Given the description of an element on the screen output the (x, y) to click on. 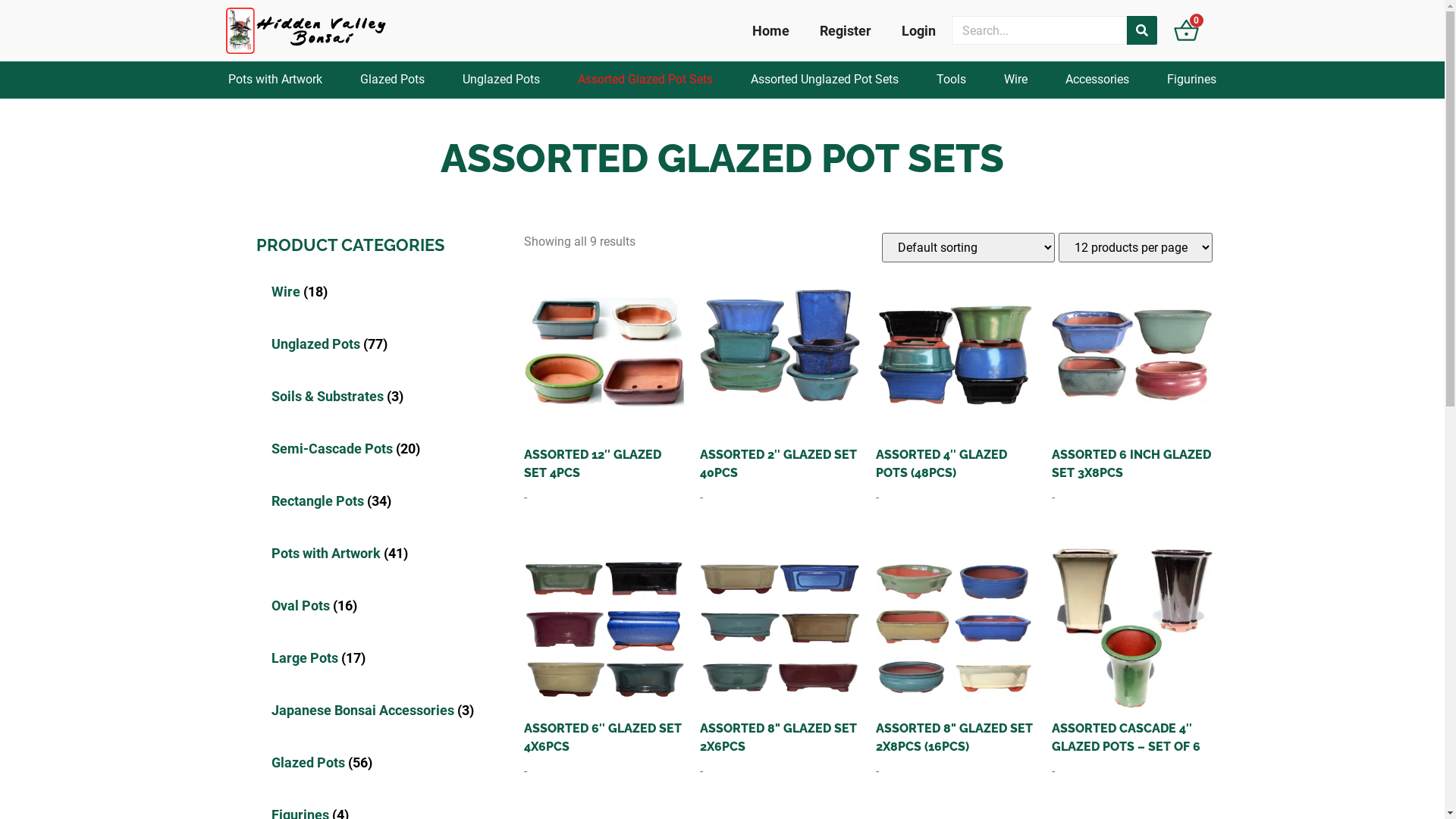
Home Element type: text (770, 29)
Search Element type: hover (1038, 29)
Figurines Element type: text (1191, 79)
Accessories Element type: text (1097, 79)
ASSORTED 8" GLAZED SET 2X8PCS (16PCS) Element type: text (955, 654)
Japanese Bonsai Accessories (3) Element type: text (364, 709)
Search Element type: hover (1141, 29)
Unglazed Pots Element type: text (500, 79)
Large Pots (17) Element type: text (310, 656)
ASSORTED 8" GLAZED SET 2X6PCS Element type: text (779, 654)
Rectangle Pots (34) Element type: text (323, 500)
Assorted Unglazed Pot Sets Element type: text (824, 79)
Pots with Artwork (41) Element type: text (331, 552)
Tools Element type: text (951, 79)
Figurines (4) Element type: text (302, 814)
Assorted Glazed Pot Sets Element type: text (644, 79)
Glazed Pots Element type: text (392, 79)
Unglazed Pots (77) Element type: text (321, 342)
Oval Pots (16) Element type: text (306, 605)
Wire (18) Element type: text (291, 291)
Pots with Artwork Element type: text (275, 79)
Glazed Pots (56) Element type: text (314, 761)
ASSORTED 6 INCH GLAZED SET 3X8PCS Element type: text (1131, 381)
Wire Element type: text (1015, 79)
Register Element type: text (845, 29)
Semi-Cascade Pots (20) Element type: text (338, 447)
Login Element type: text (918, 29)
Soils & Substrates (3) Element type: text (329, 395)
